Given the description of an element on the screen output the (x, y) to click on. 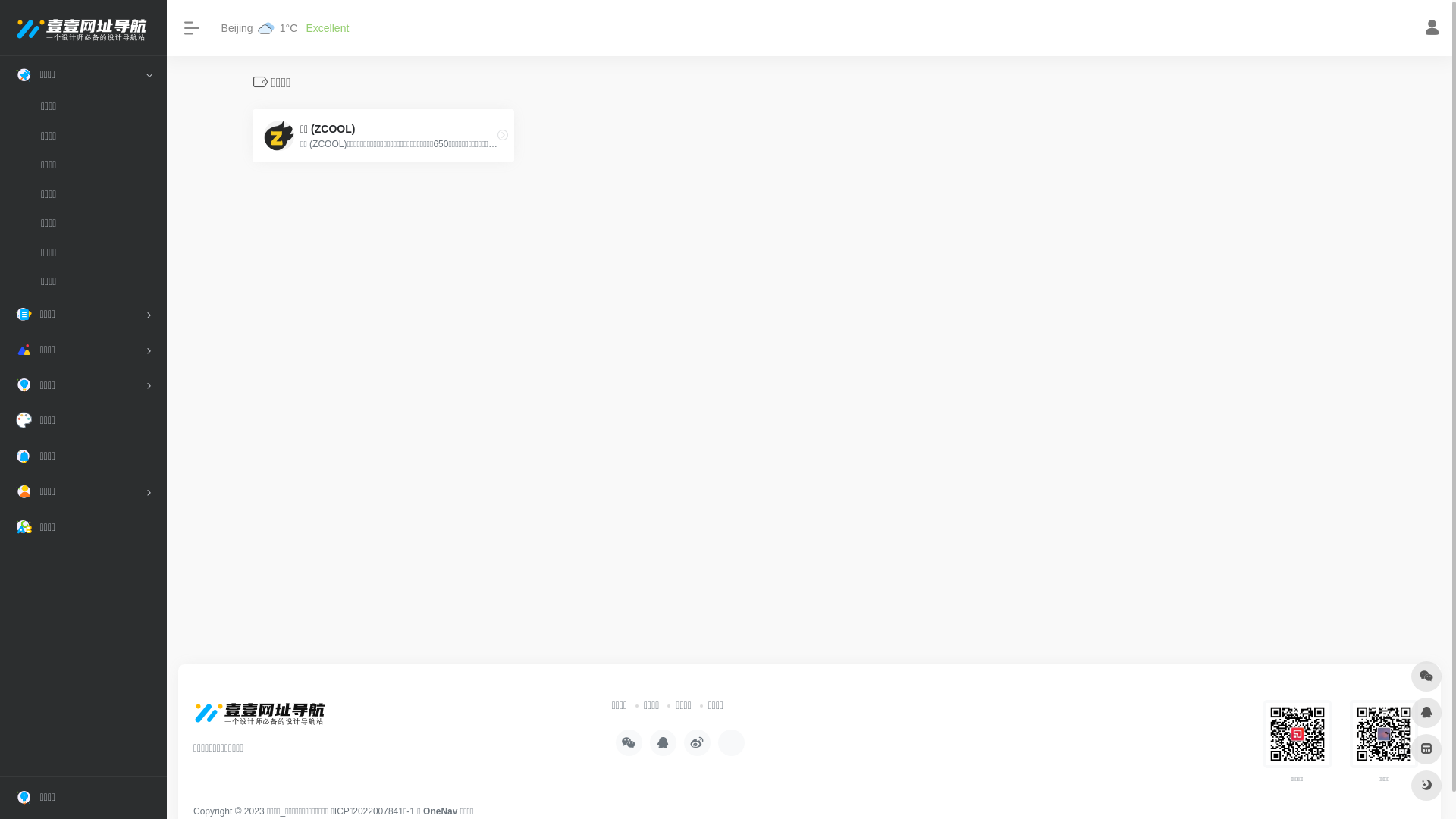
OneNav Element type: text (440, 811)
